Given the description of an element on the screen output the (x, y) to click on. 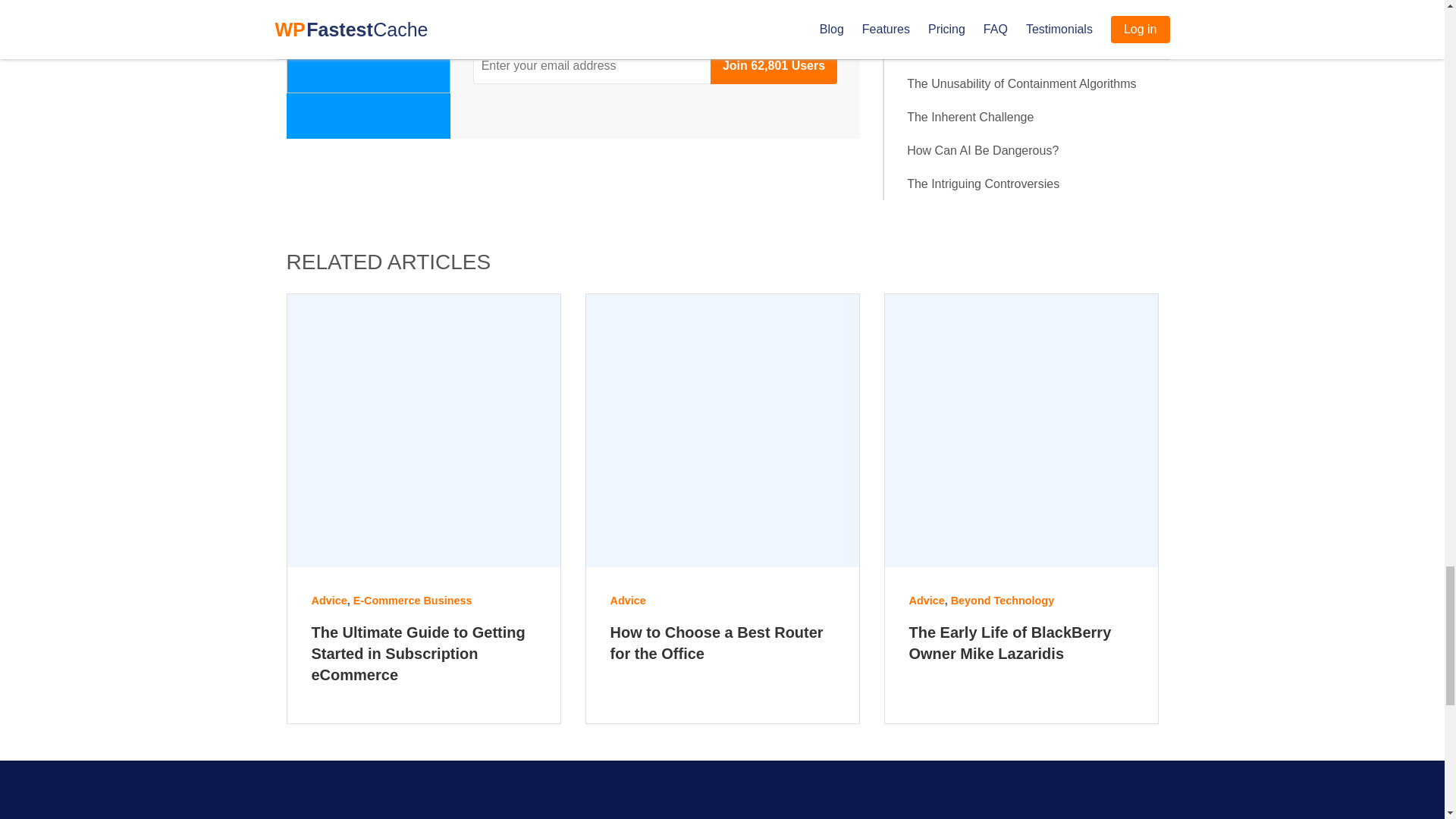
Advice (925, 600)
Beyond Technology (1002, 600)
How to Choose a Best Router for the Office (722, 644)
Join 62,801 Users (773, 65)
Advice (328, 600)
Advice (627, 600)
E-Commerce Business (412, 600)
